Given the description of an element on the screen output the (x, y) to click on. 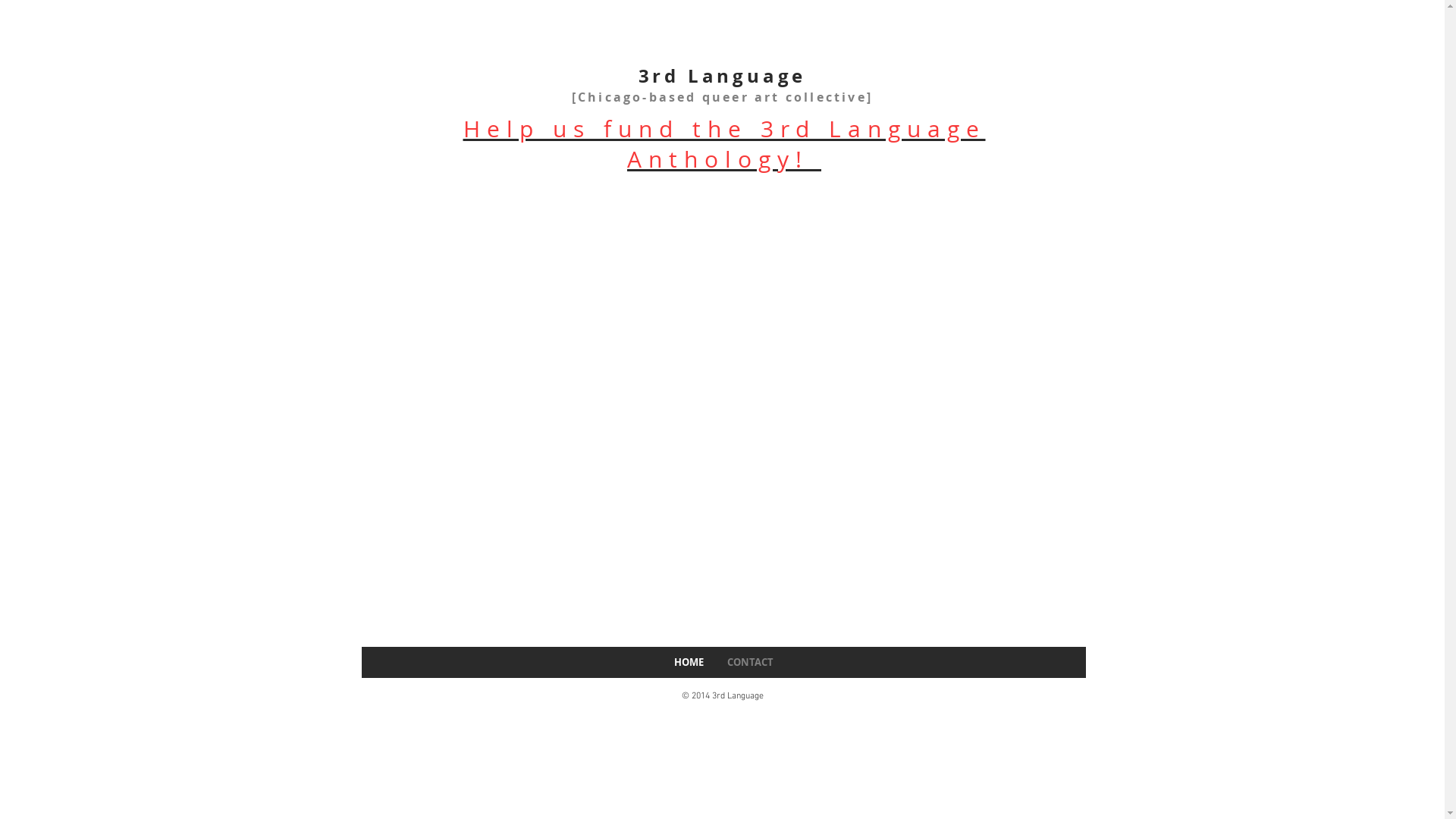
3rd Language Element type: text (722, 75)
[Chicago-based queer art collective] Element type: text (721, 96)
Help us fund the 3rd Language Anthology!  Element type: text (723, 143)
CONTACT Element type: text (749, 661)
HOME Element type: text (688, 661)
